Given the description of an element on the screen output the (x, y) to click on. 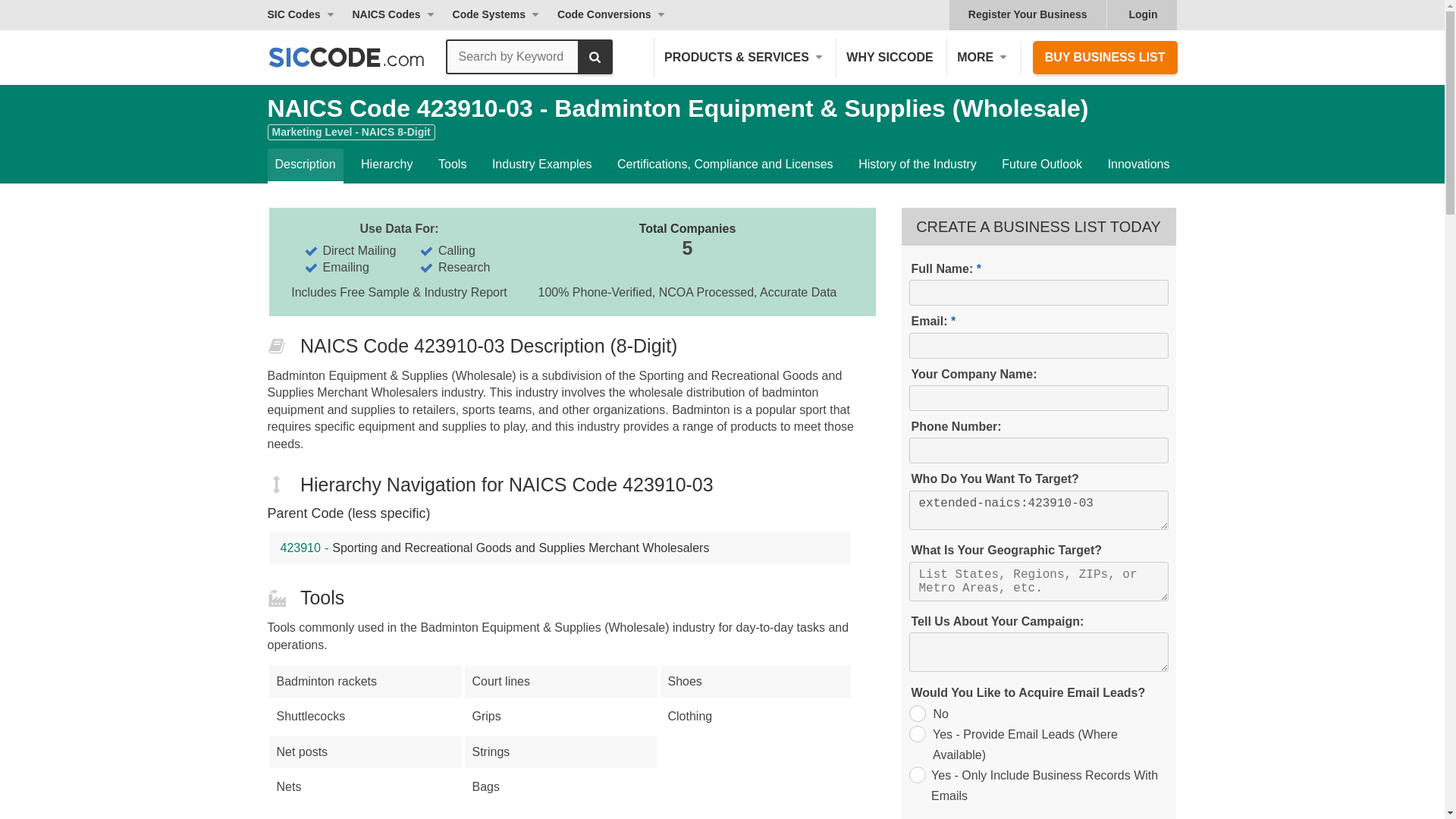
No (916, 713)
SEARCH (595, 56)
Yes, Only With Emails (915, 774)
SEARCH (595, 56)
Yes, where available (916, 733)
